Given the description of an element on the screen output the (x, y) to click on. 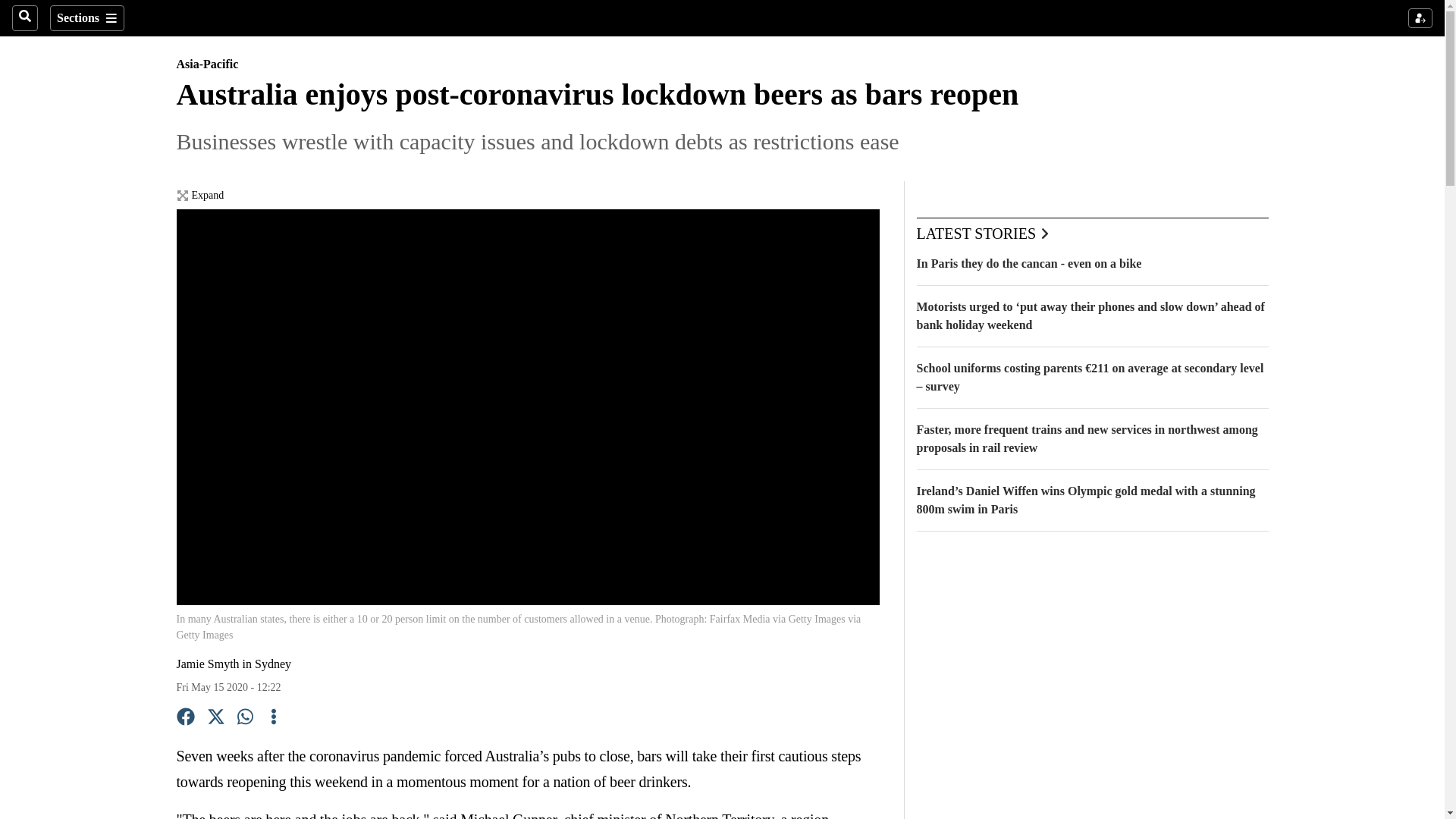
Sections (86, 17)
